Given the description of an element on the screen output the (x, y) to click on. 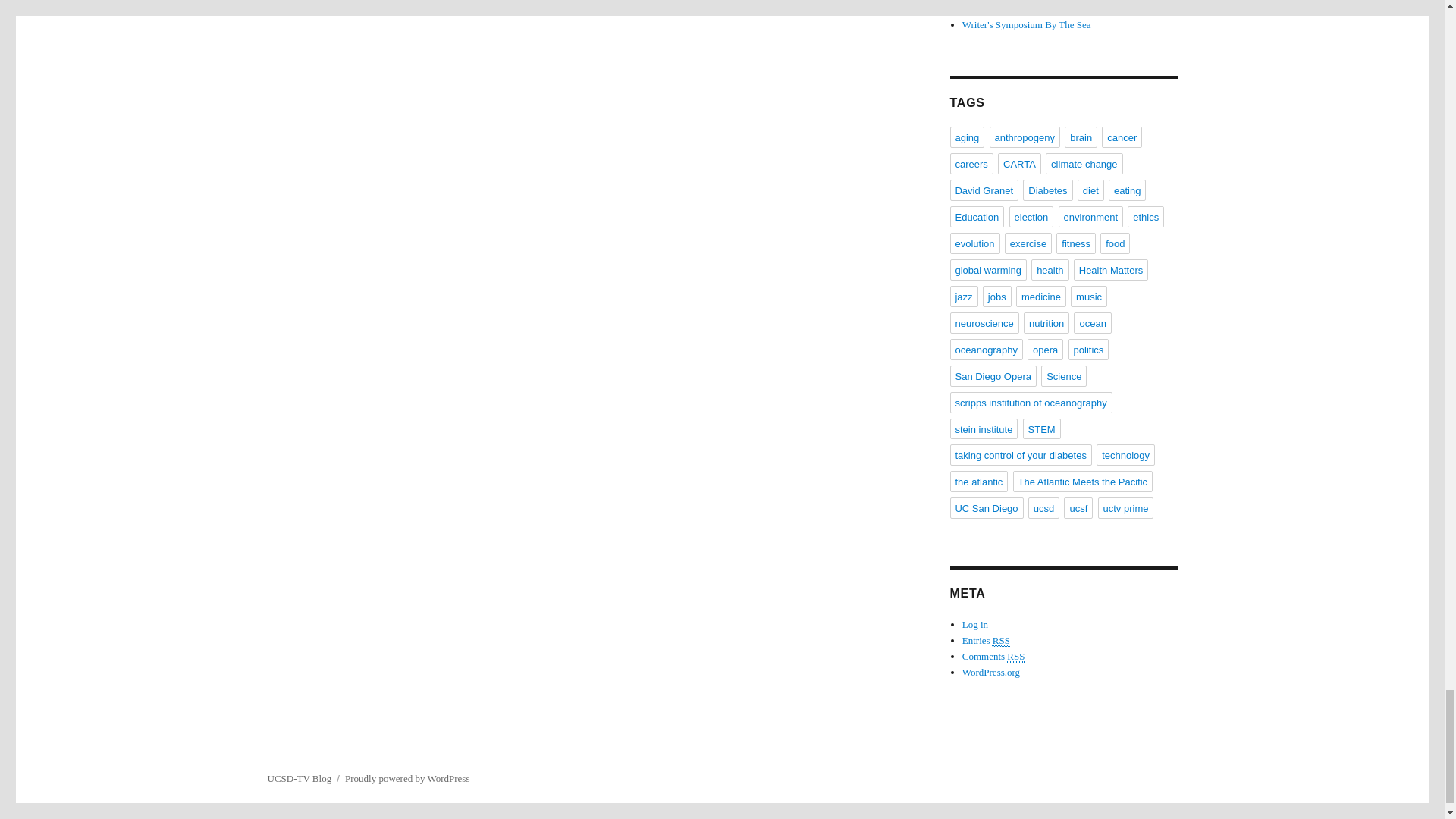
Really Simple Syndication (1016, 656)
Really Simple Syndication (1001, 640)
